Given the description of an element on the screen output the (x, y) to click on. 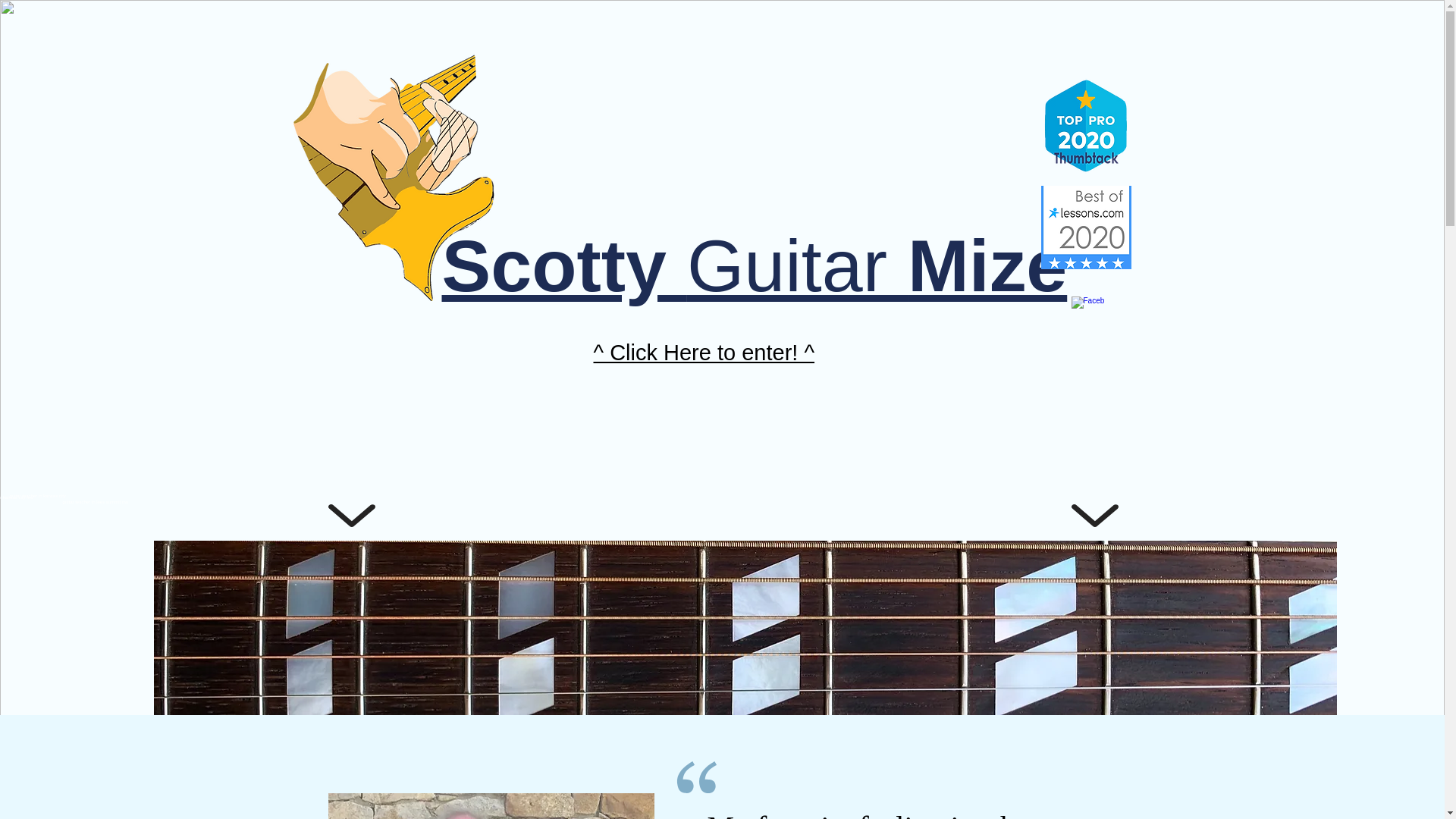
Scotty Guitar Mize (754, 265)
